Given the description of an element on the screen output the (x, y) to click on. 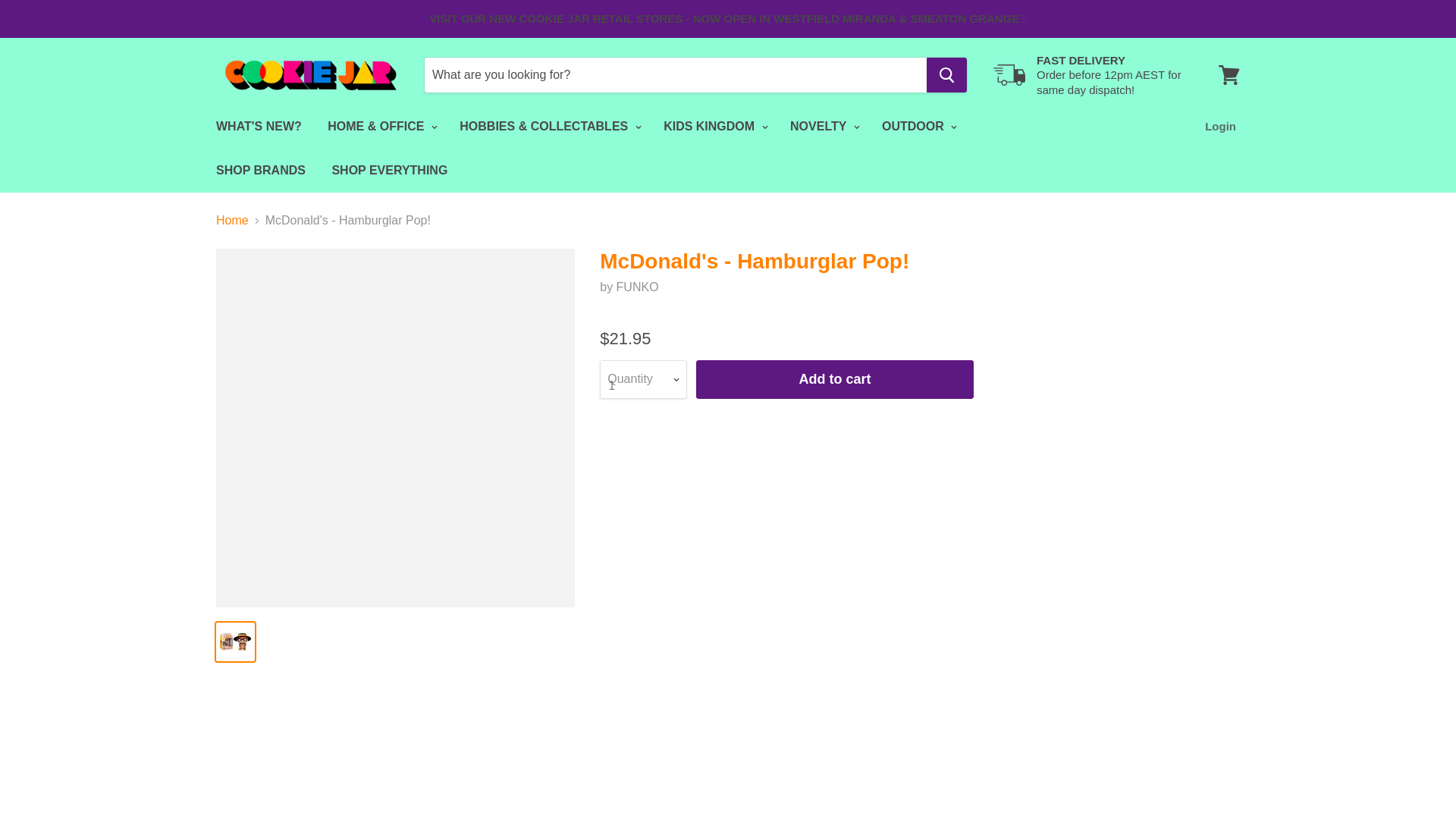
KIDS KINGDOM (713, 126)
View cart (1229, 74)
WHAT'S NEW? (259, 126)
